Given the description of an element on the screen output the (x, y) to click on. 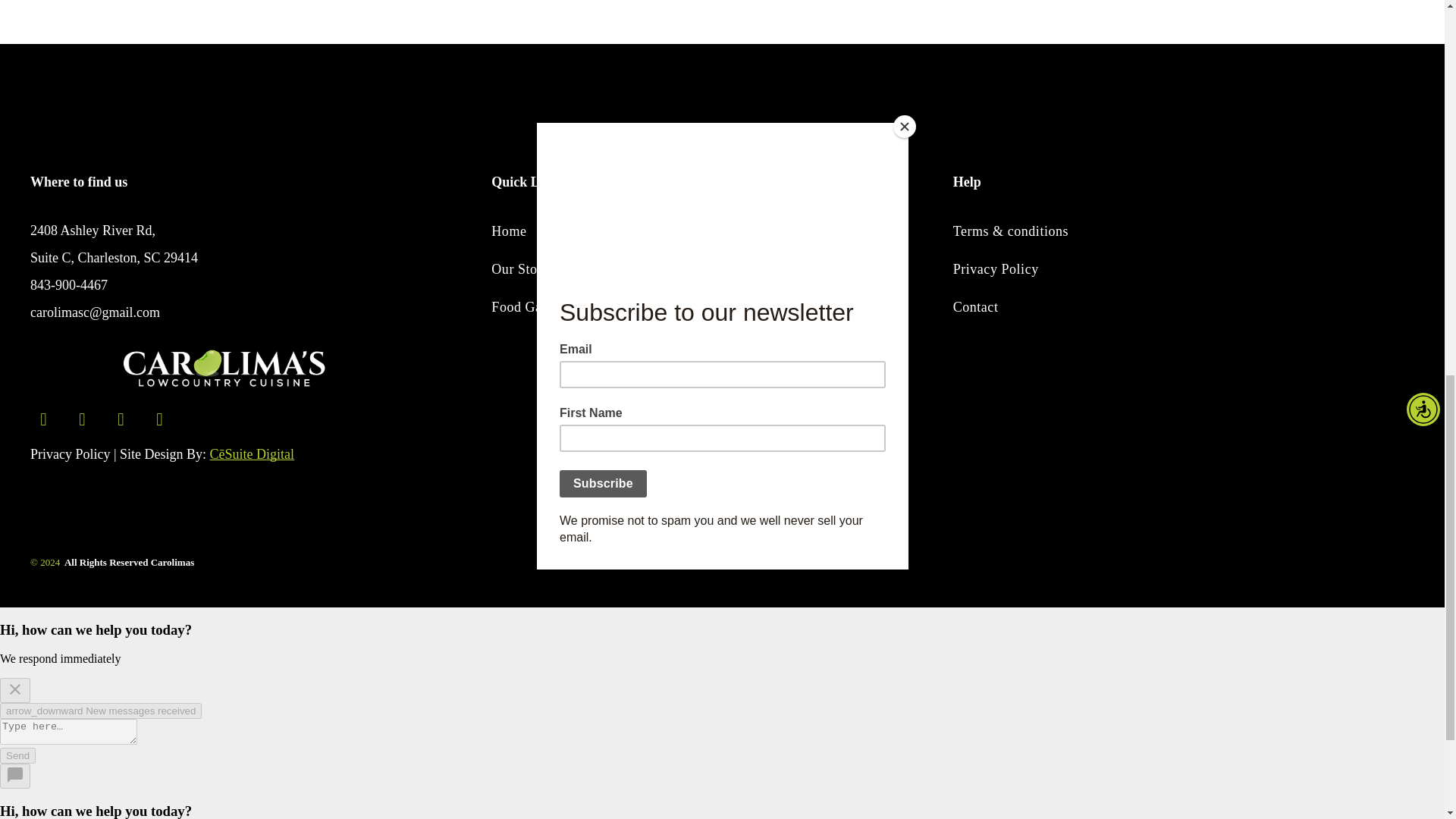
Carolima's Lowcountry Cuisine (223, 367)
